Given the description of an element on the screen output the (x, y) to click on. 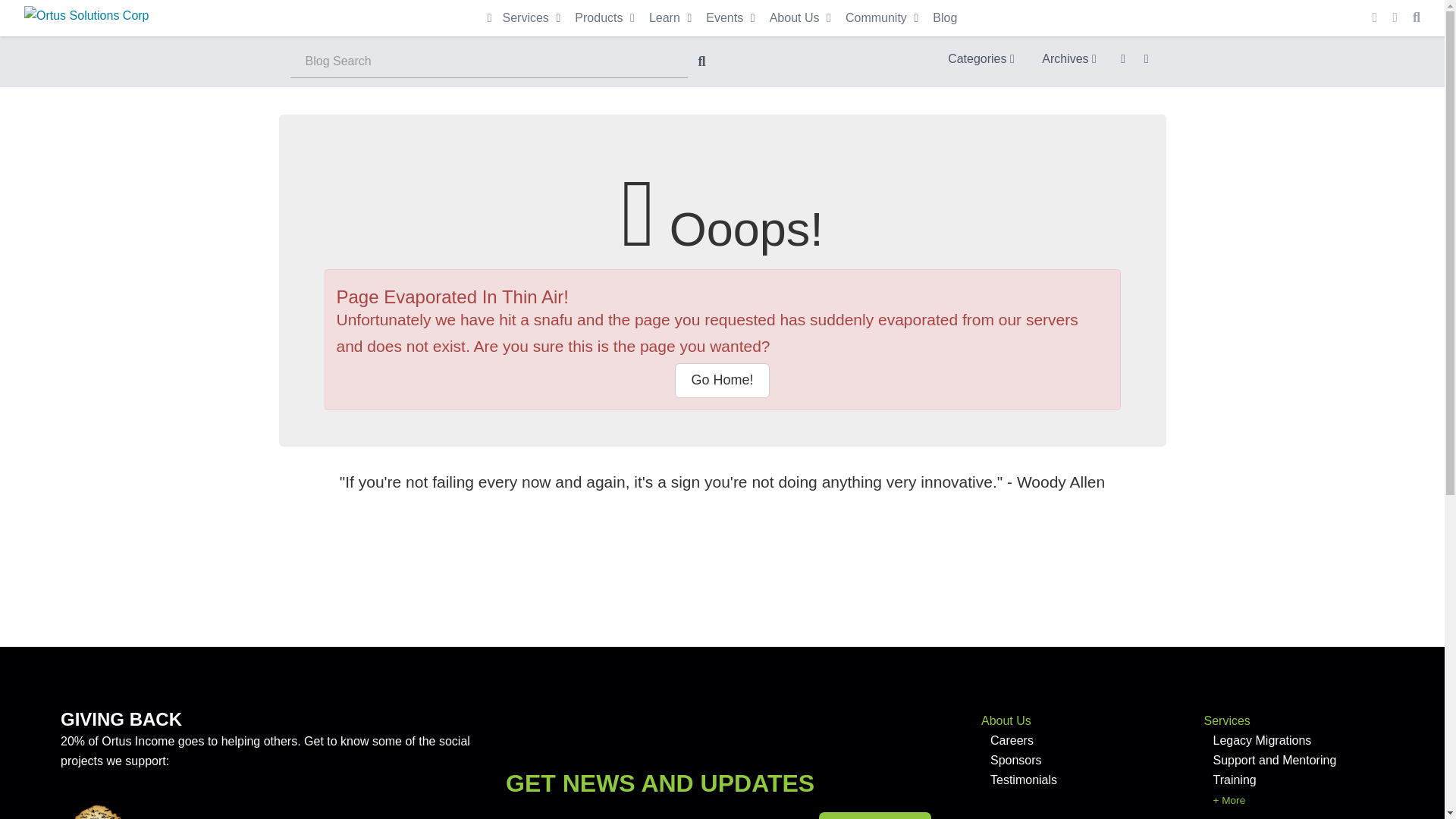
Products (607, 17)
Events (732, 17)
Learn (672, 17)
Services (533, 17)
A Software Revolution! (86, 17)
RSS (1123, 57)
